Given the description of an element on the screen output the (x, y) to click on. 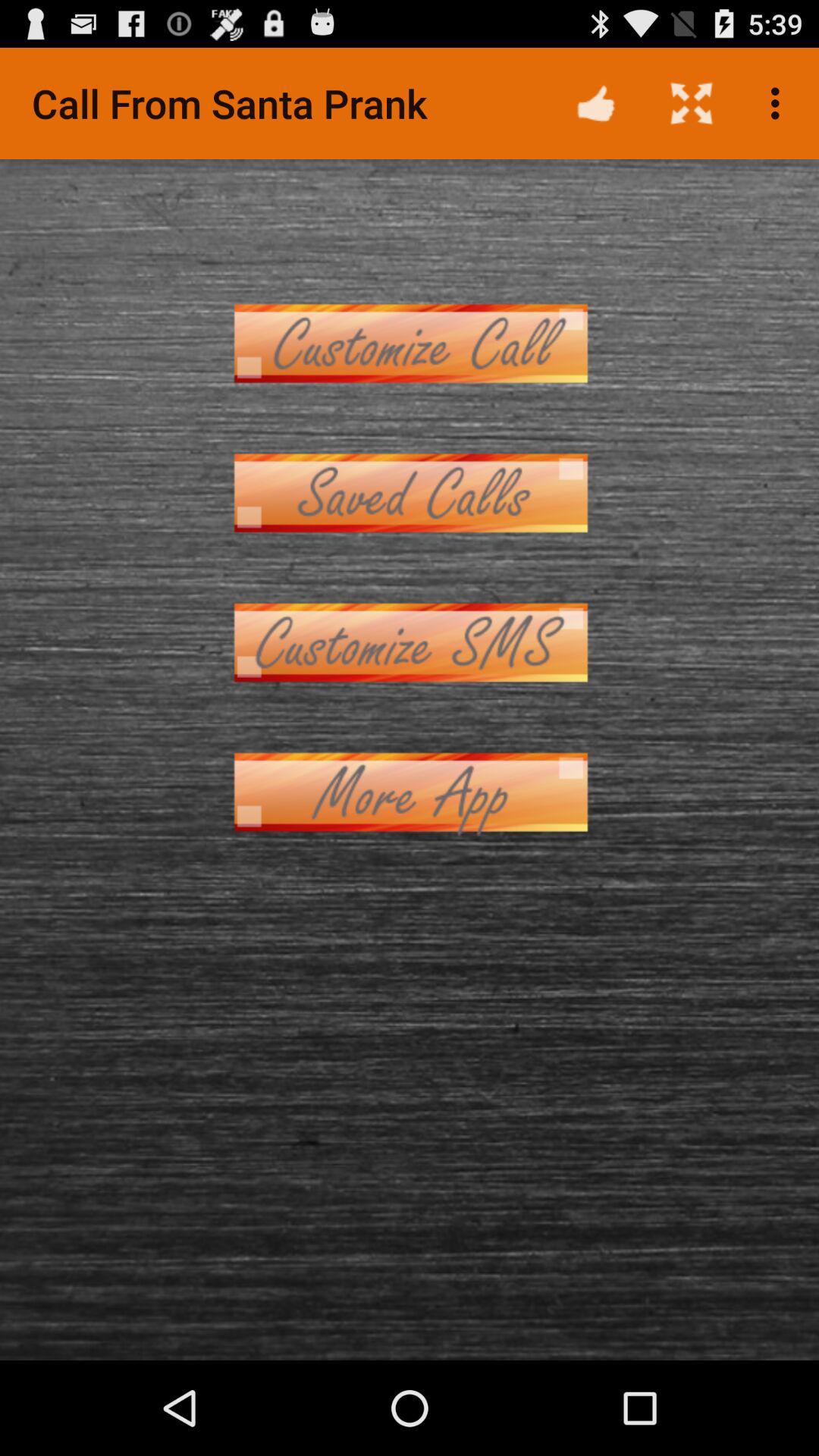
saved calls (409, 492)
